Given the description of an element on the screen output the (x, y) to click on. 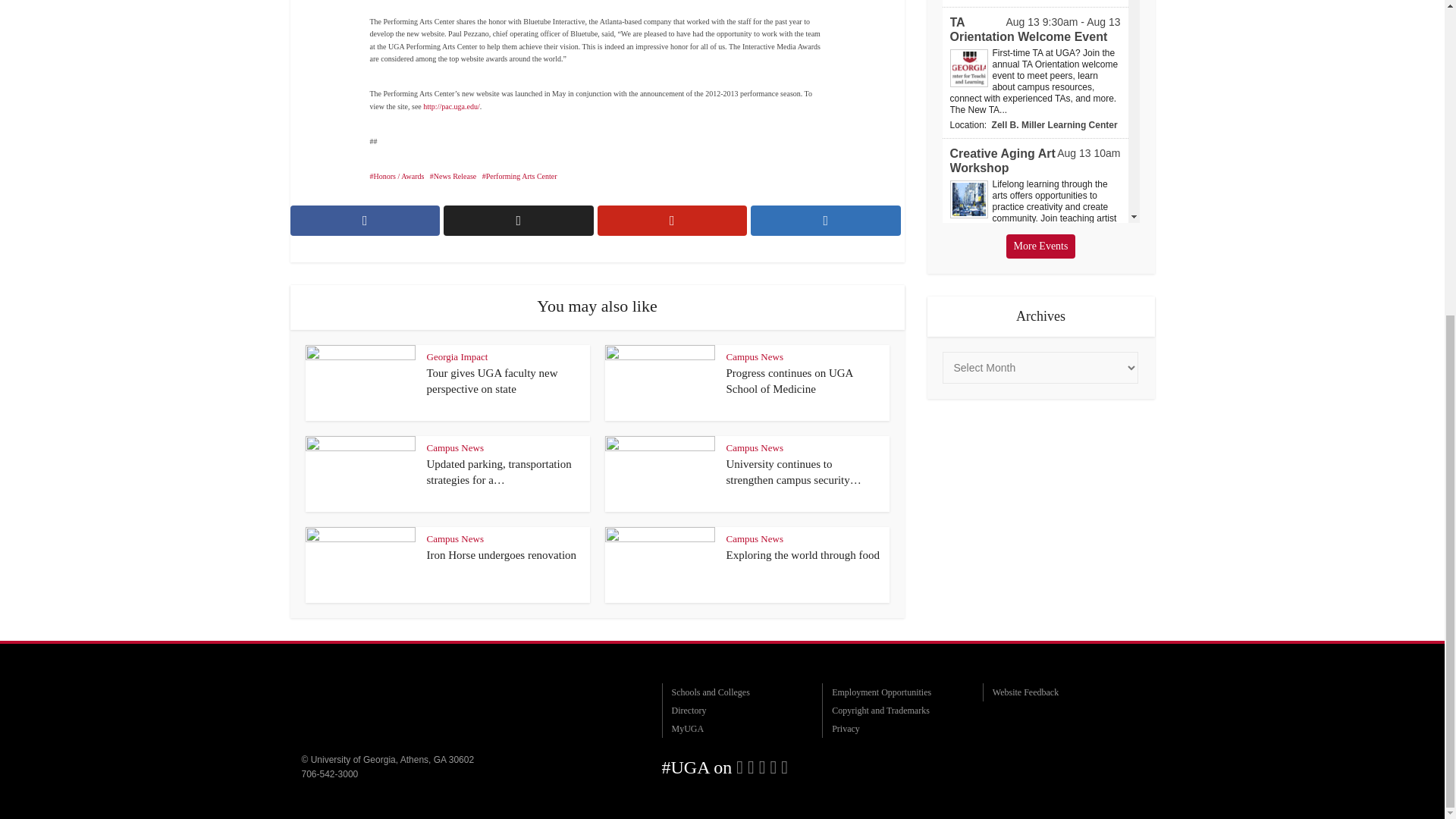
Campus News (454, 446)
Progress continues on UGA School of Medicine (789, 379)
Campus News (754, 355)
Tour gives UGA faculty new perspective on state (491, 379)
Georgia Impact (456, 355)
Progress continues on UGA School of Medicine (789, 379)
Exploring the world through food (802, 554)
Performing Arts Center (519, 175)
News Release (452, 175)
Iron Horse undergoes renovation (501, 554)
